Given the description of an element on the screen output the (x, y) to click on. 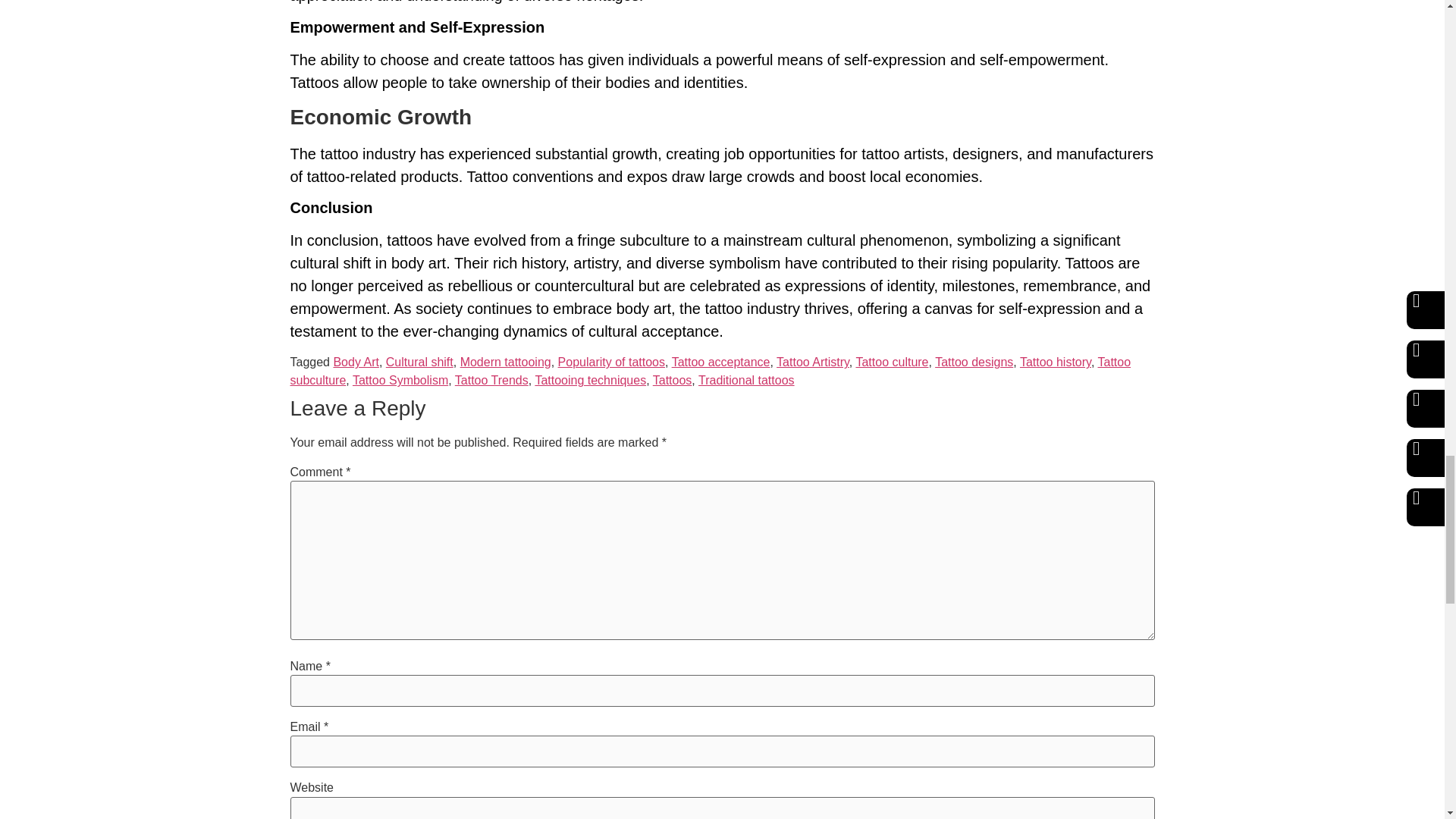
Tattoo subculture (710, 370)
Tattoo designs (973, 361)
Tattoo history (1055, 361)
Modern tattooing (505, 361)
Popularity of tattoos (611, 361)
Cultural shift (418, 361)
Tattoo acceptance (720, 361)
Tattoo Trends (491, 379)
Tattoos (672, 379)
Body Art (355, 361)
Tattoo Artistry (812, 361)
Tattoo culture (892, 361)
Tattoo Symbolism (400, 379)
Traditional tattoos (746, 379)
Tattooing techniques (590, 379)
